Given the description of an element on the screen output the (x, y) to click on. 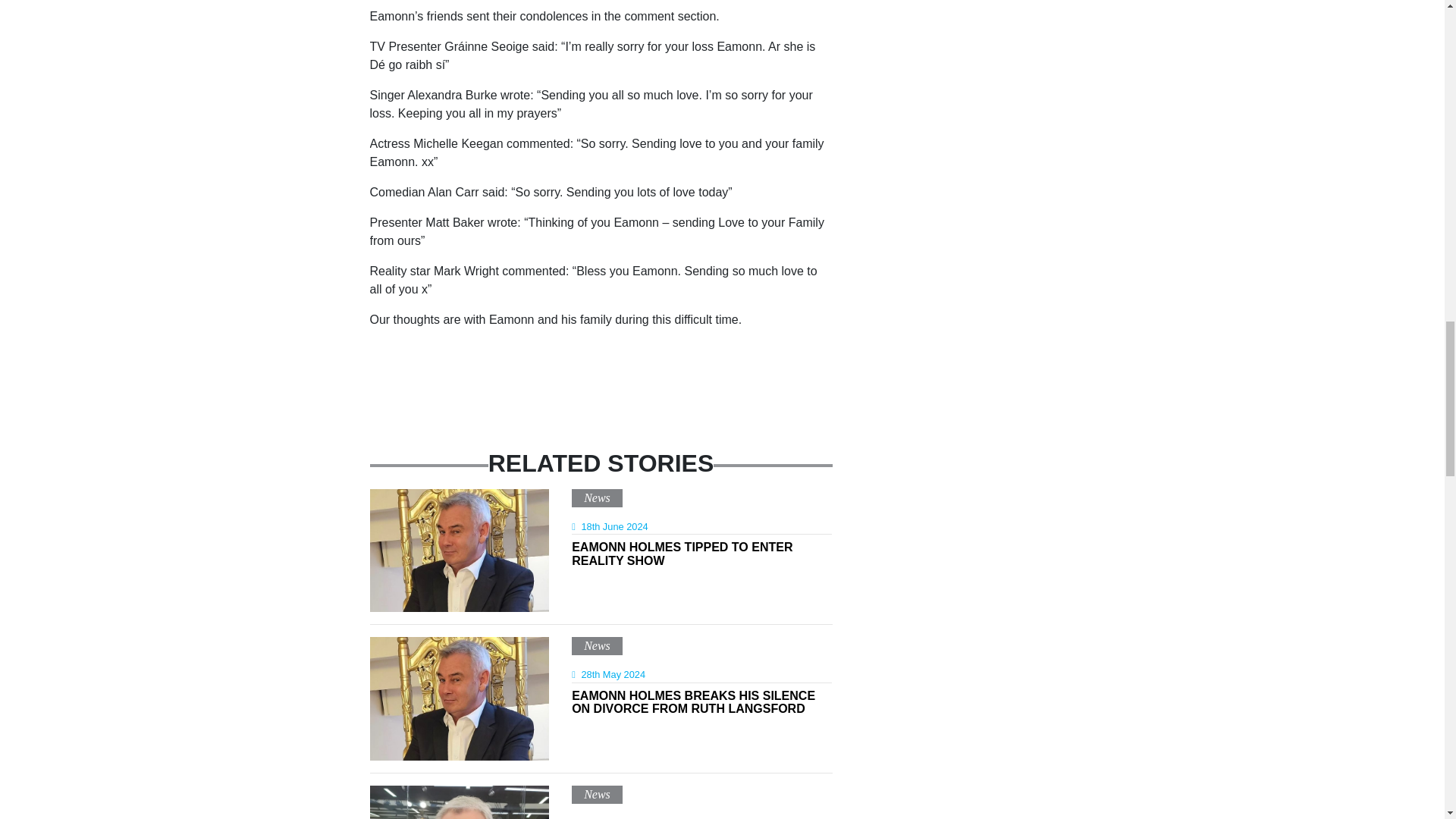
News (701, 557)
News (596, 645)
News (596, 793)
